Given the description of an element on the screen output the (x, y) to click on. 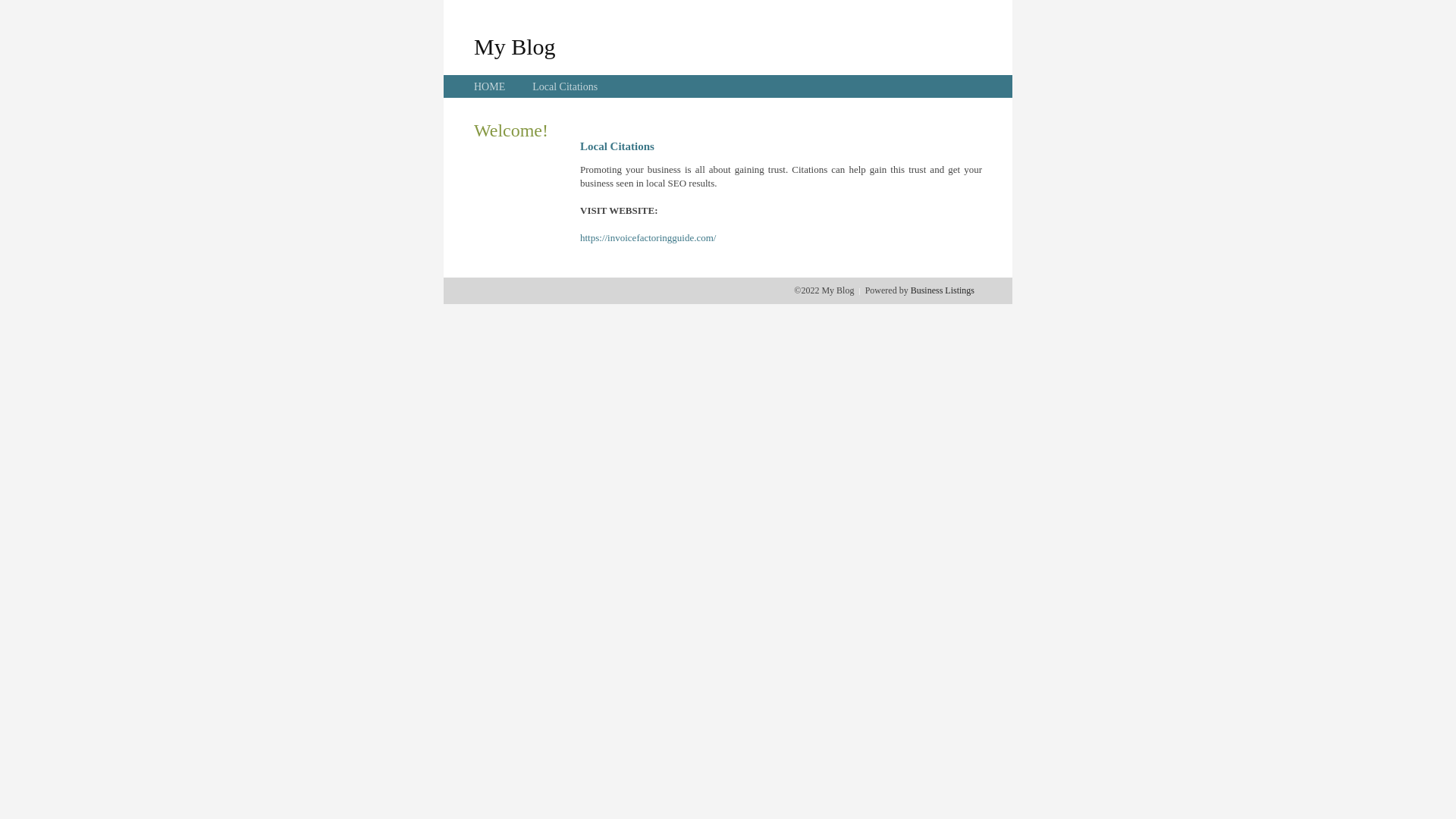
Local Citations Element type: text (564, 86)
HOME Element type: text (489, 86)
Business Listings Element type: text (942, 290)
https://invoicefactoringguide.com/ Element type: text (647, 237)
My Blog Element type: text (514, 46)
